Given the description of an element on the screen output the (x, y) to click on. 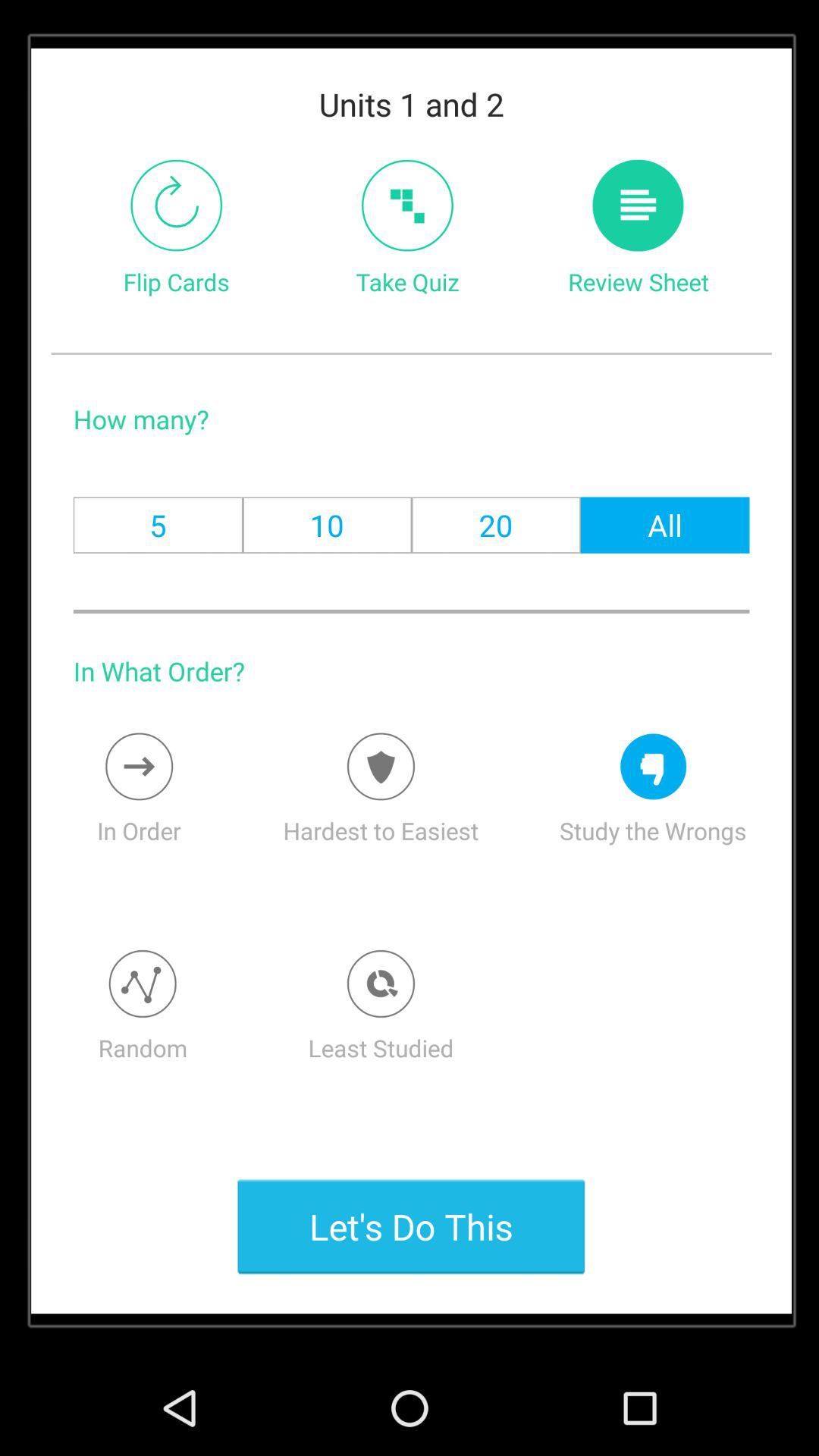
take a quiz (407, 205)
